Given the description of an element on the screen output the (x, y) to click on. 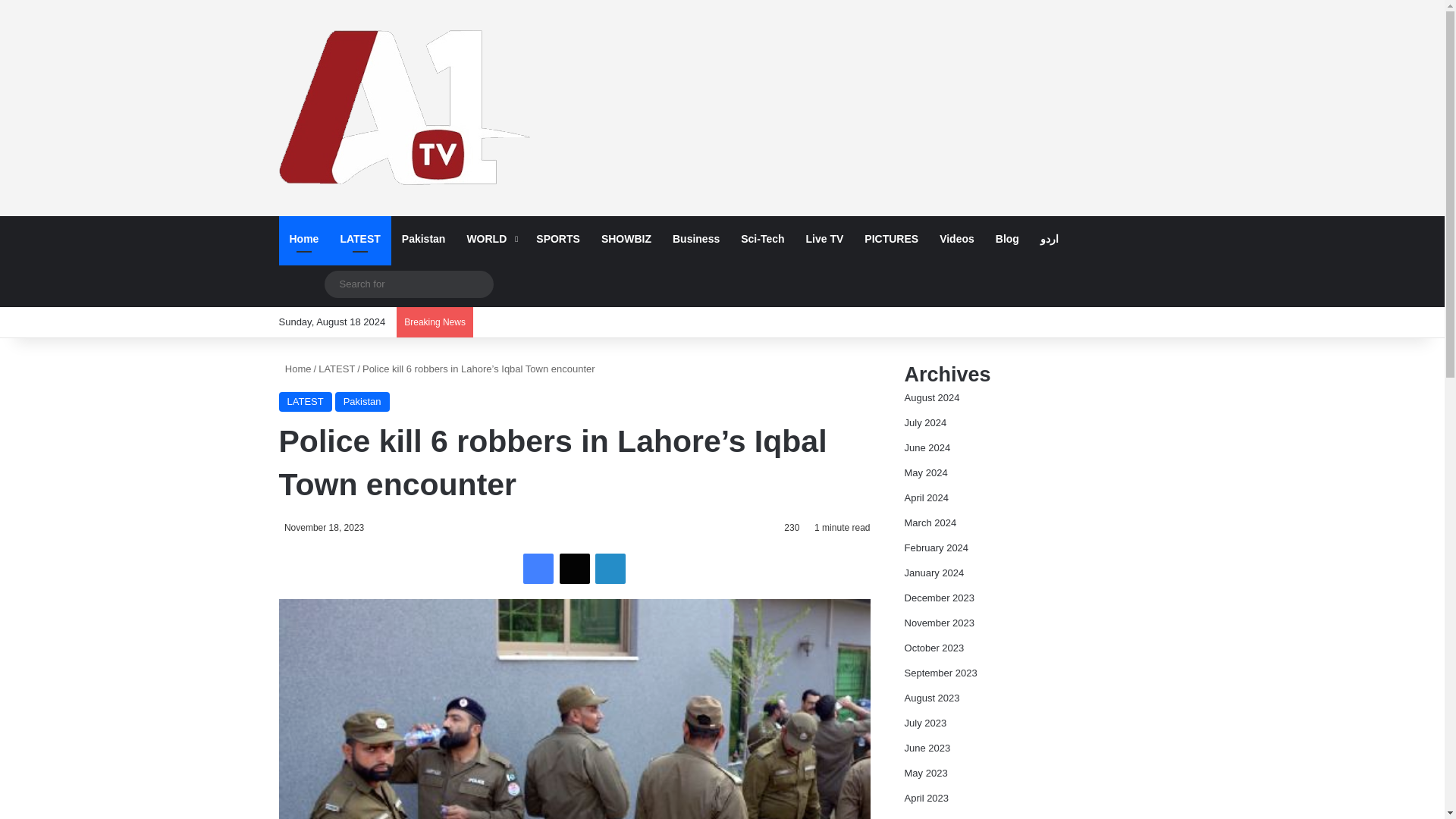
LATEST (336, 368)
Facebook (537, 568)
LinkedIn (610, 568)
LATEST (359, 238)
Home (304, 238)
Home (295, 368)
Business (696, 238)
Search for (408, 283)
Videos (956, 238)
Live TV (824, 238)
